Given the description of an element on the screen output the (x, y) to click on. 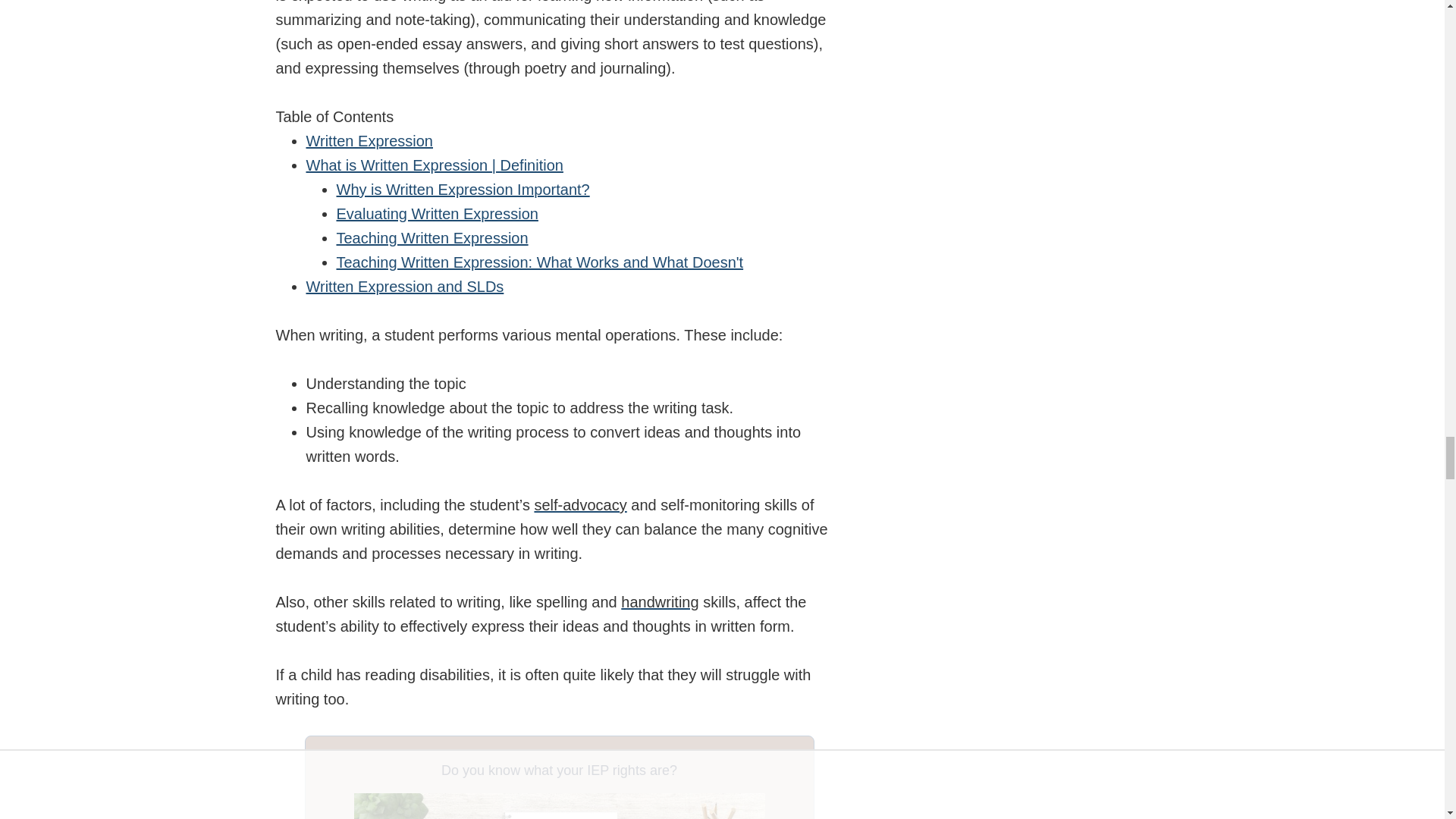
Teaching Written Expression: What Works and What Doesn't (540, 262)
handwriting (659, 601)
handwriting (659, 601)
Evaluating Written Expression (437, 213)
Written Expression and SLDs (404, 286)
self-advocacy (580, 504)
self-advocacy (580, 504)
Why is Written Expression Important? (462, 189)
Teaching Written Expression (432, 238)
Written Expression (368, 140)
